Given the description of an element on the screen output the (x, y) to click on. 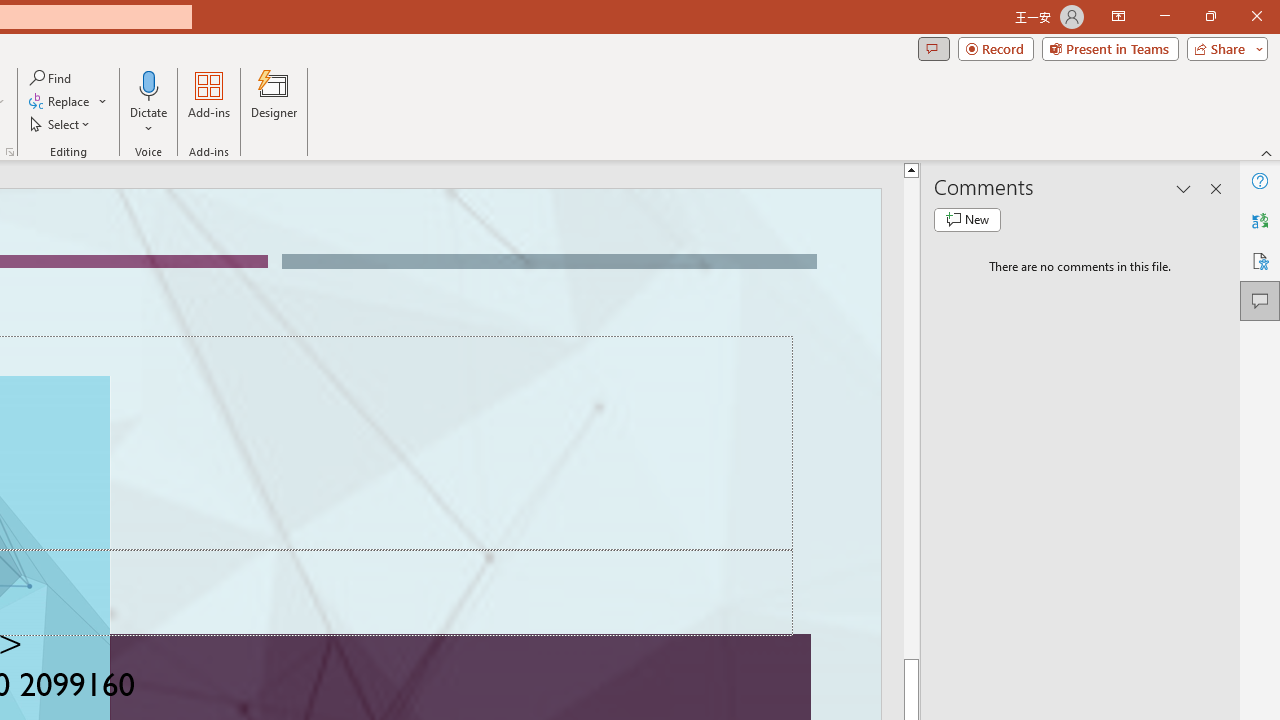
Page up (911, 417)
Comments (1260, 300)
Ribbon Display Options (1118, 16)
Format Object... (9, 151)
Replace... (68, 101)
Dictate (149, 102)
Dictate (149, 84)
Replace... (60, 101)
Close (1256, 16)
Comments (933, 48)
New comment (967, 219)
Present in Teams (1109, 48)
Find... (51, 78)
